Given the description of an element on the screen output the (x, y) to click on. 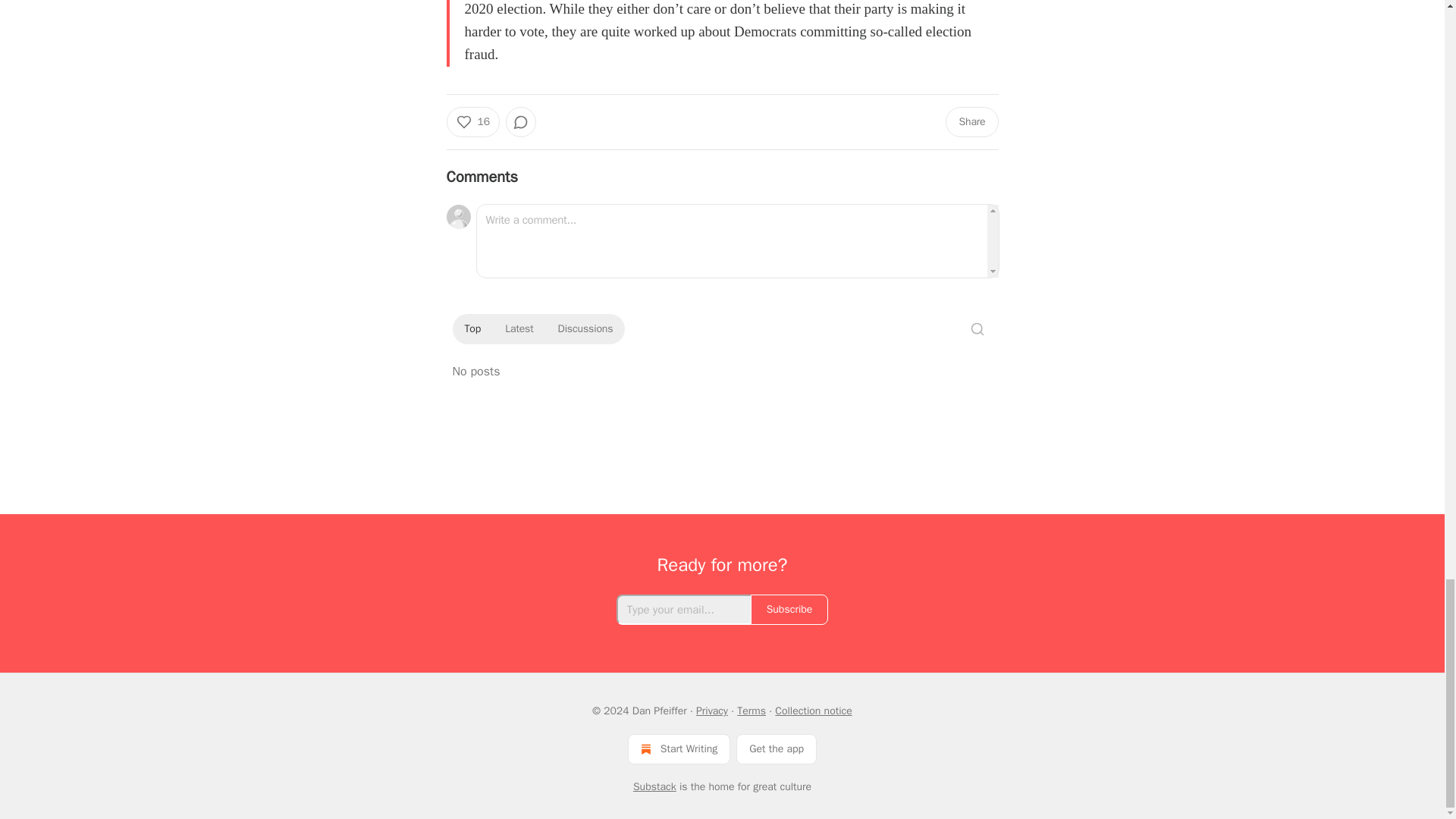
Share (970, 122)
16 (472, 122)
